Given the description of an element on the screen output the (x, y) to click on. 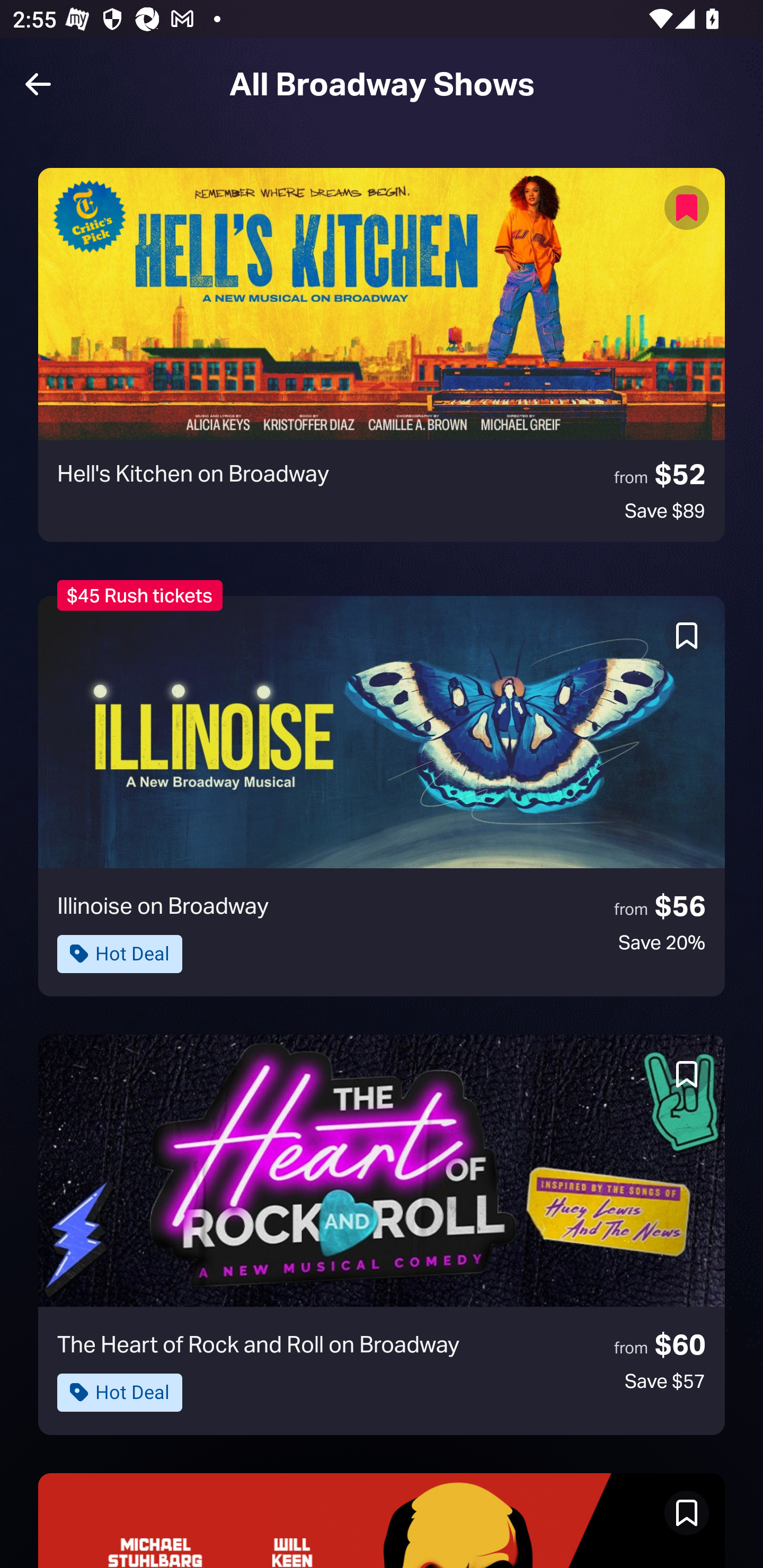
Hell's Kitchen on Broadway from $52 Save $89 (381, 354)
Illinoise on Broadway from $56 Hot Deal Save 20% (381, 795)
